Given the description of an element on the screen output the (x, y) to click on. 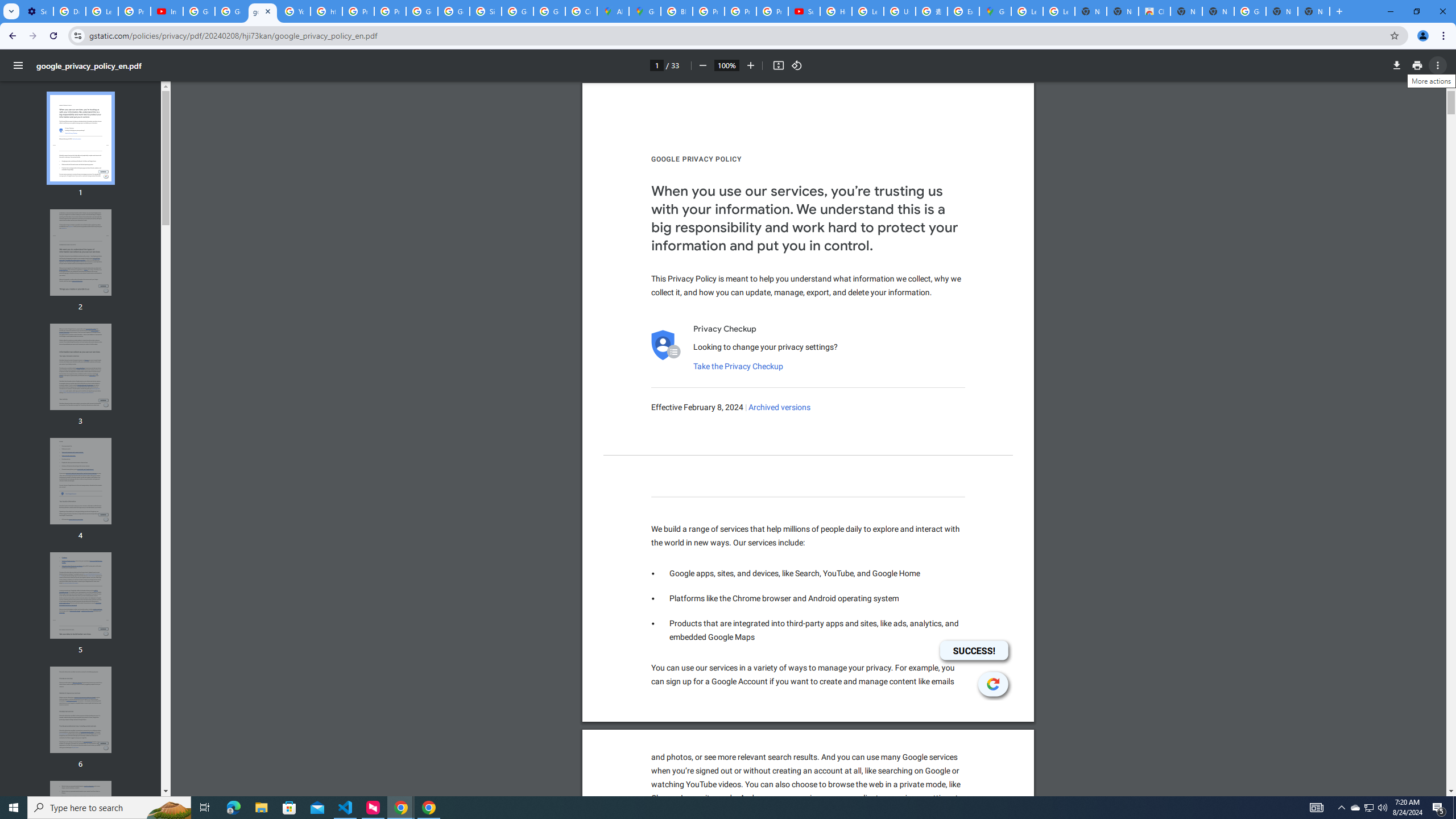
Zoom out (702, 65)
Page number (656, 64)
Blogger Policies and Guidelines - Transparency Center (676, 11)
Menu (17, 65)
Create your Google Account (581, 11)
Privacy Help Center - Policies Help (740, 11)
Thumbnail for page 3 (80, 366)
Take the Privacy Checkup (738, 366)
